Given the description of an element on the screen output the (x, y) to click on. 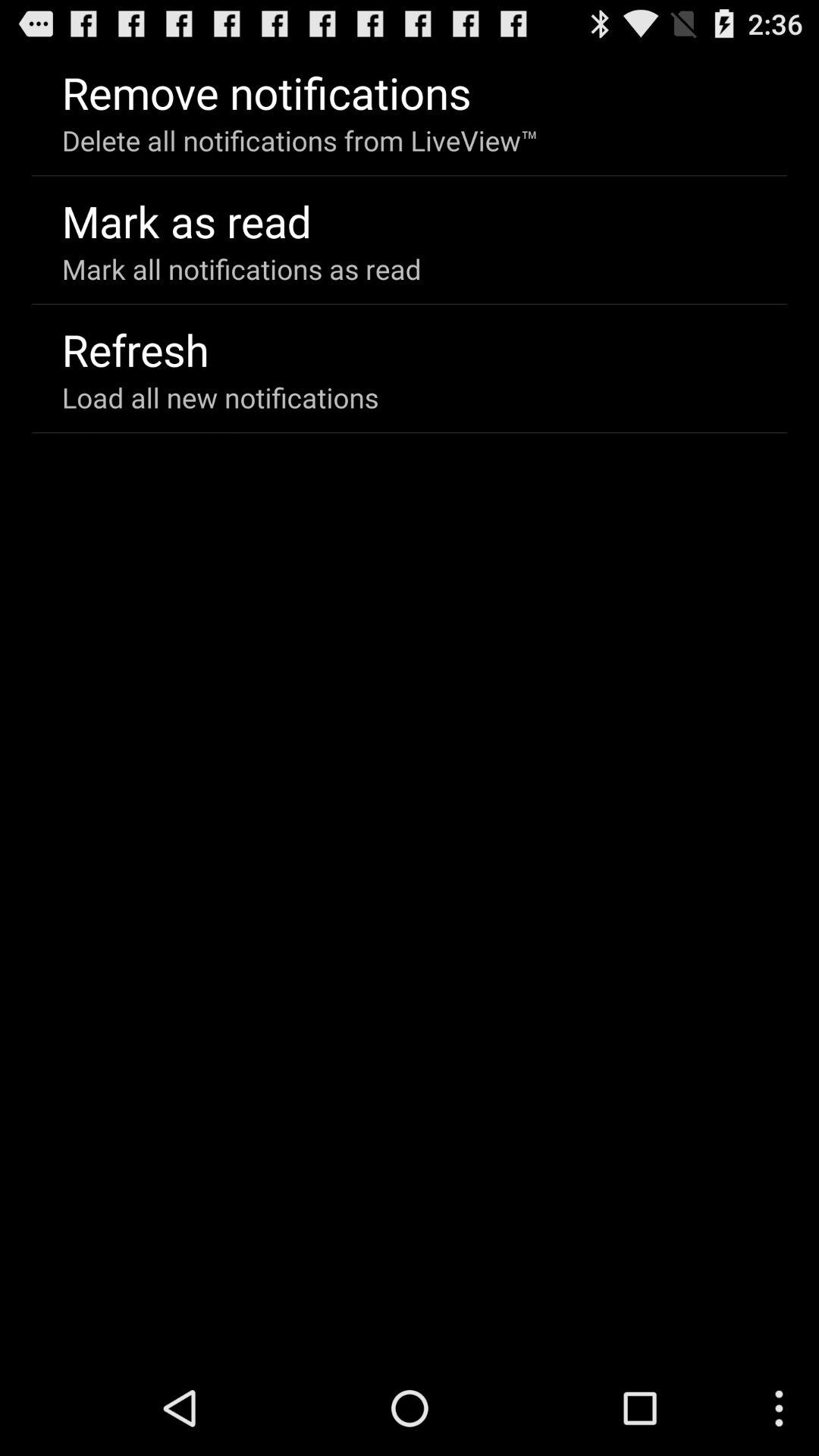
turn off app below mark all notifications app (135, 349)
